Given the description of an element on the screen output the (x, y) to click on. 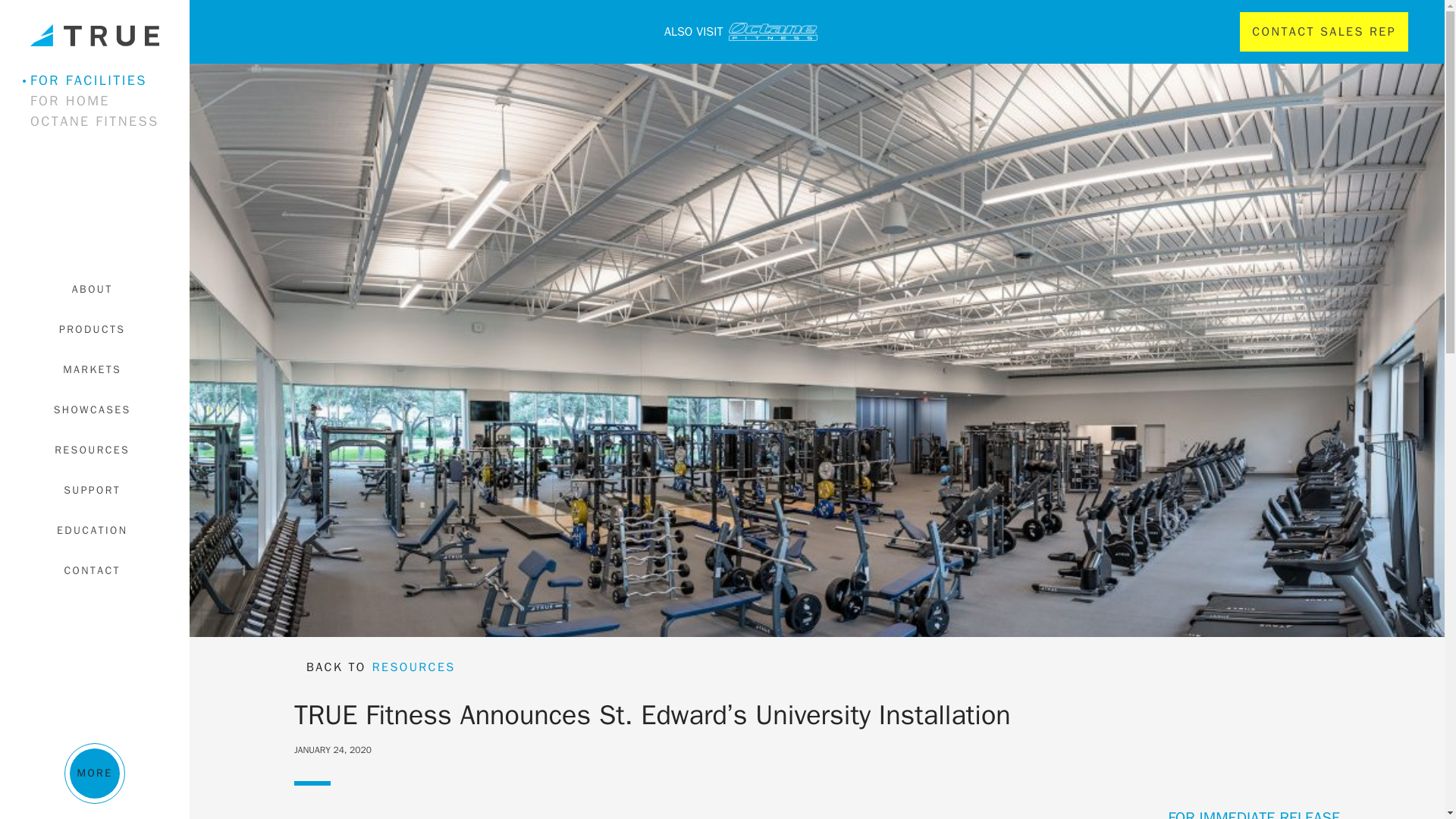
TRUE Fitness (94, 34)
PRODUCTS  (94, 329)
ALSO VISIT (520, 31)
FOR FACILITIES (103, 80)
ABOUT  (94, 289)
FOR HOME (103, 100)
CONTACT SALES REP (1323, 31)
OCTANE FITNESS (103, 121)
About (94, 289)
Products (94, 329)
